Given the description of an element on the screen output the (x, y) to click on. 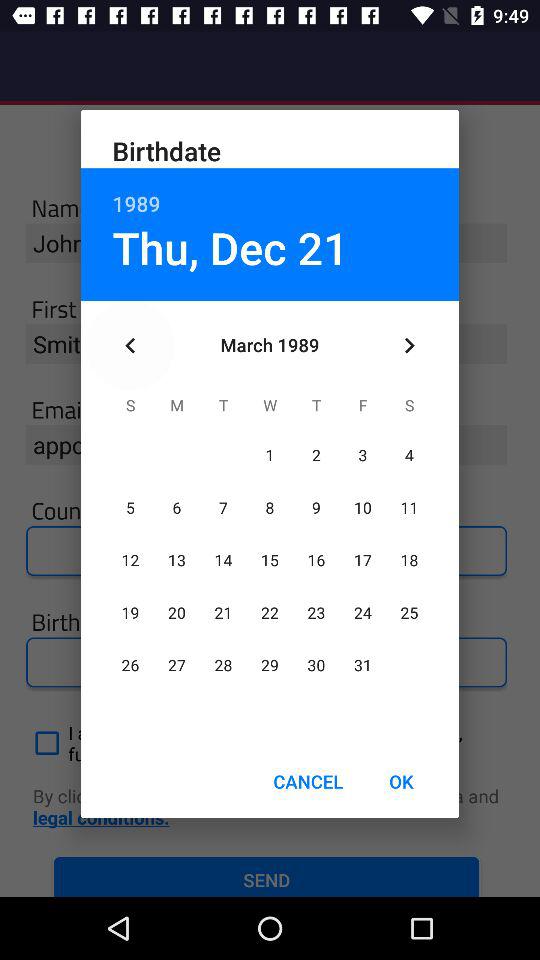
select the icon above the ok (408, 345)
